Given the description of an element on the screen output the (x, y) to click on. 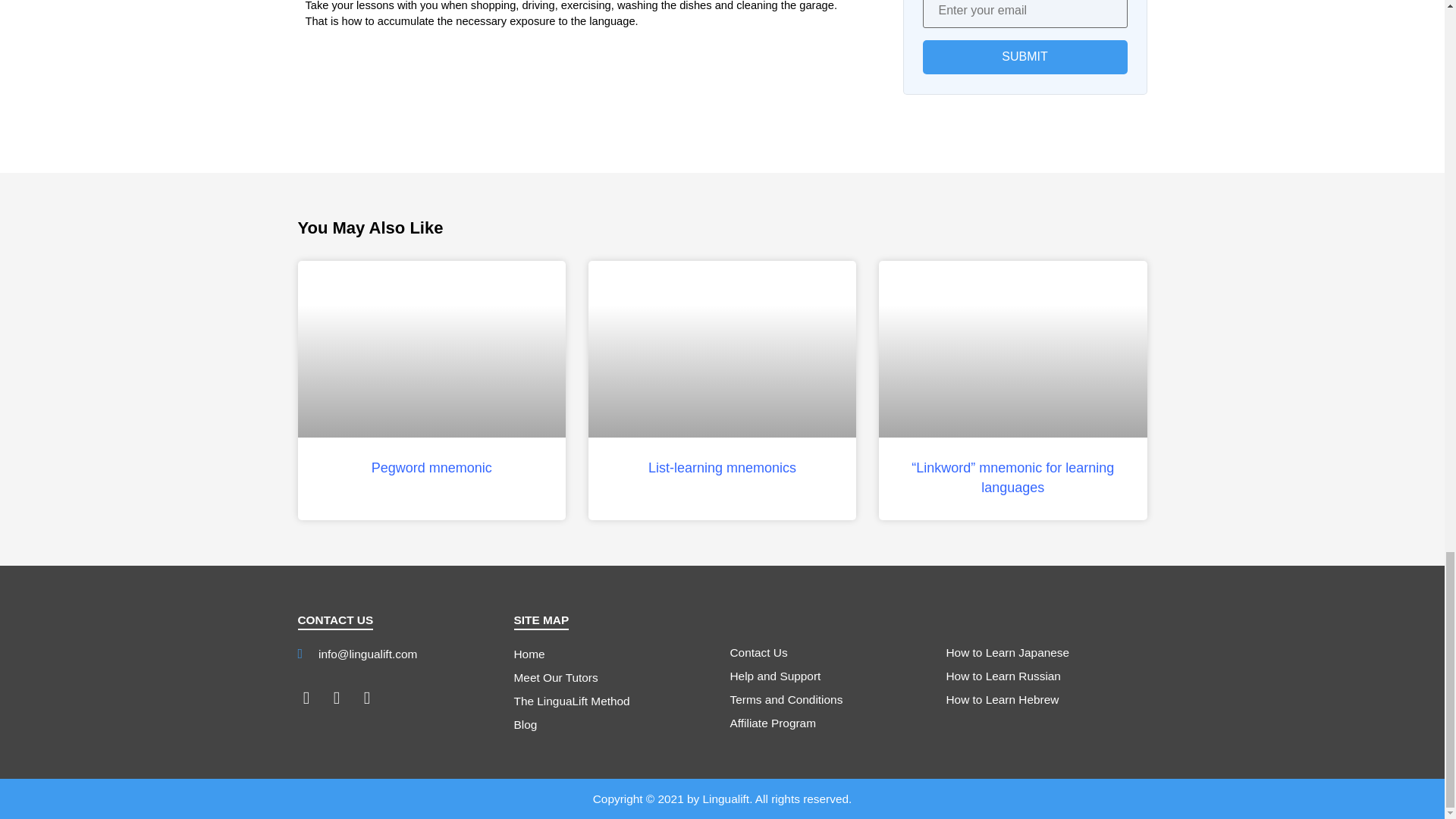
List-learning mnemonics (721, 467)
Submit (1023, 57)
Submit (1023, 57)
Pegword mnemonic (431, 467)
